Given the description of an element on the screen output the (x, y) to click on. 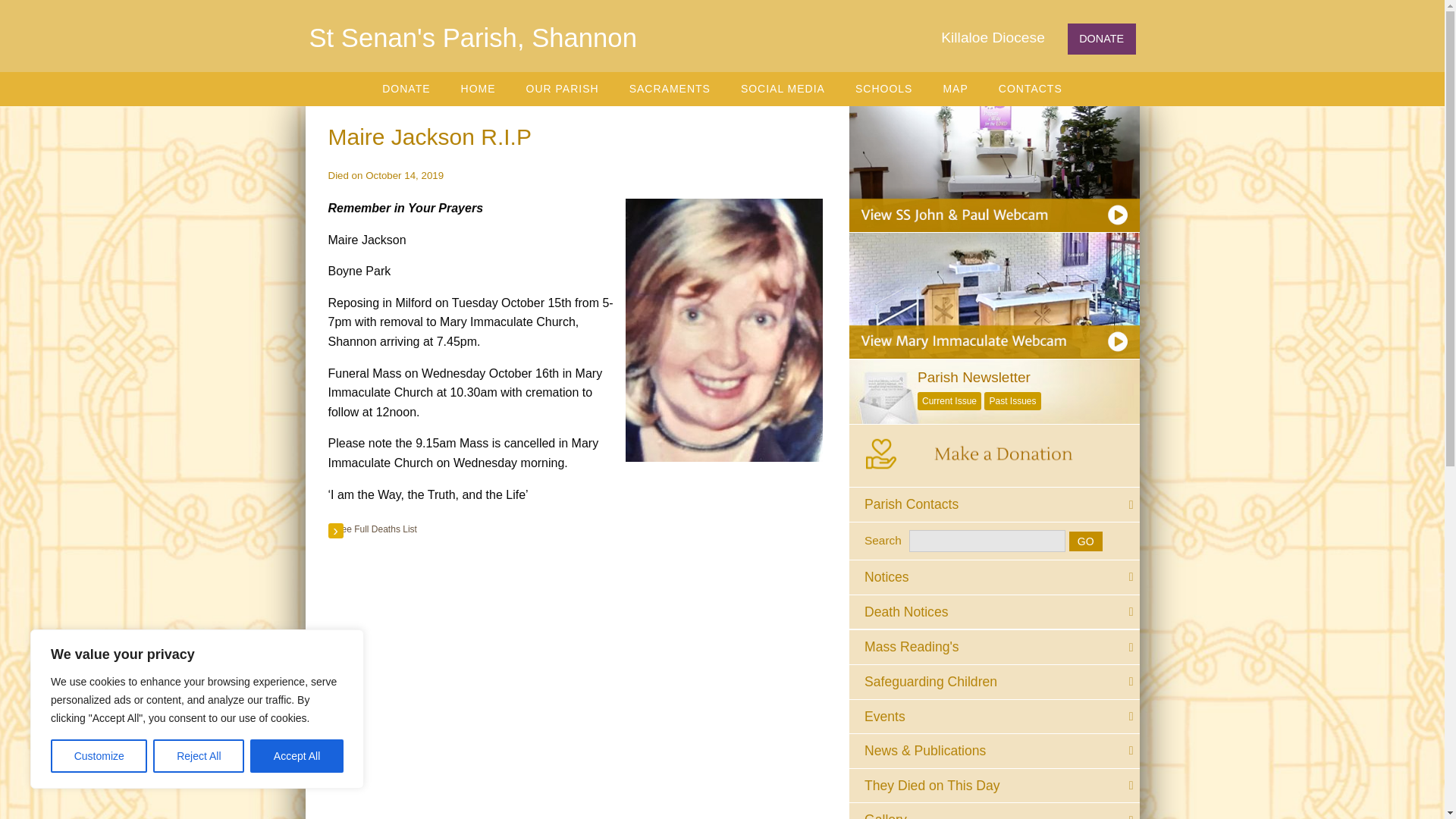
DONATE (405, 89)
DONATE (1101, 38)
St Senan's Parish, Shannon (472, 37)
Reject All (198, 756)
Accept All (296, 756)
Customize (98, 756)
Go (1085, 541)
